Given the description of an element on the screen output the (x, y) to click on. 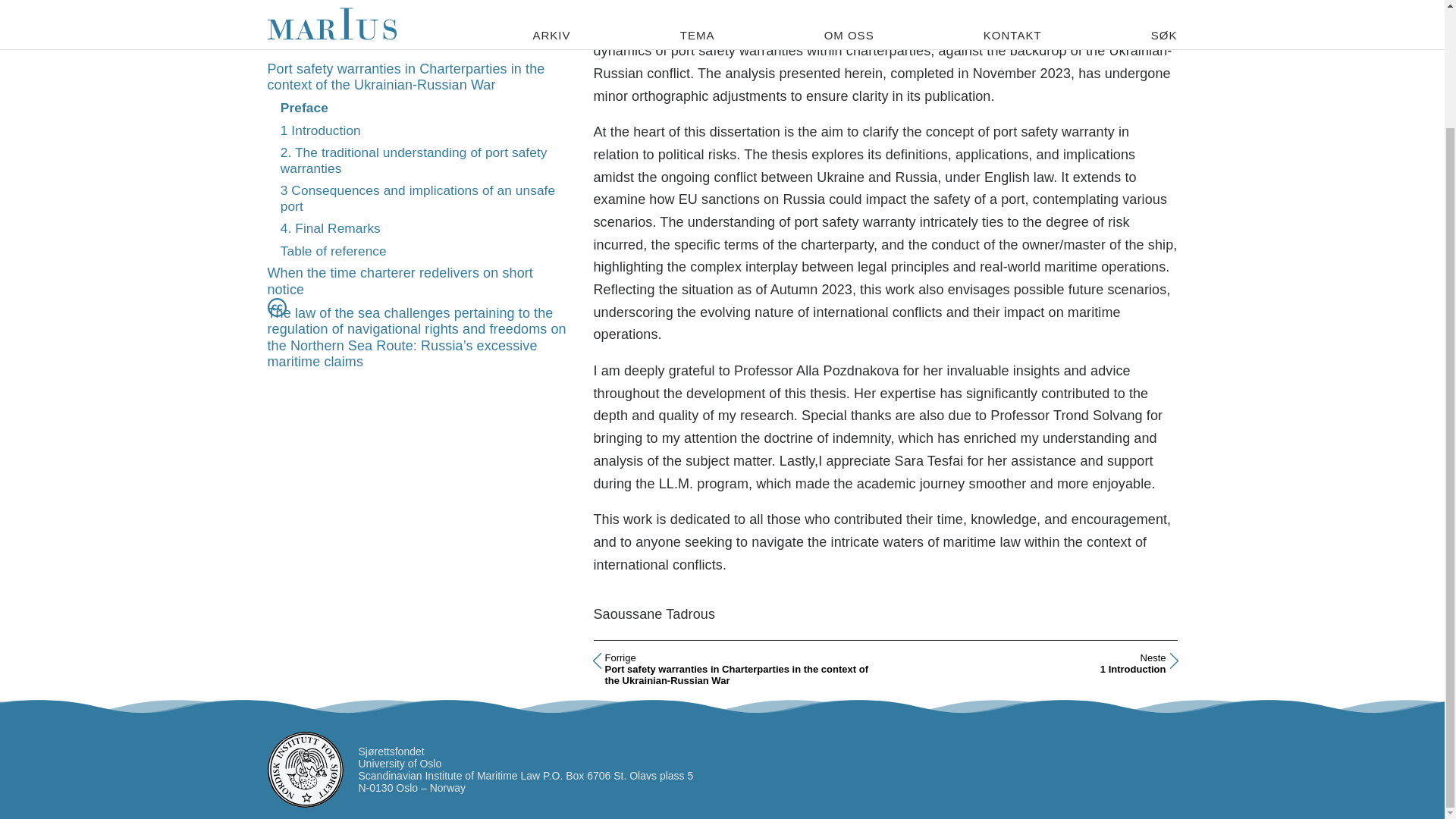
Table of reference (334, 171)
4. Final Remarks (1031, 668)
Publiseringspolitikk (330, 148)
2. The traditional understanding of port safety warranties (275, 304)
1 Introduction (414, 80)
When the time charterer redelivers on short notice (321, 50)
Publiseringspolitikk (399, 201)
Preface (275, 304)
3 Consequences and implications of an unsafe port (305, 28)
